Given the description of an element on the screen output the (x, y) to click on. 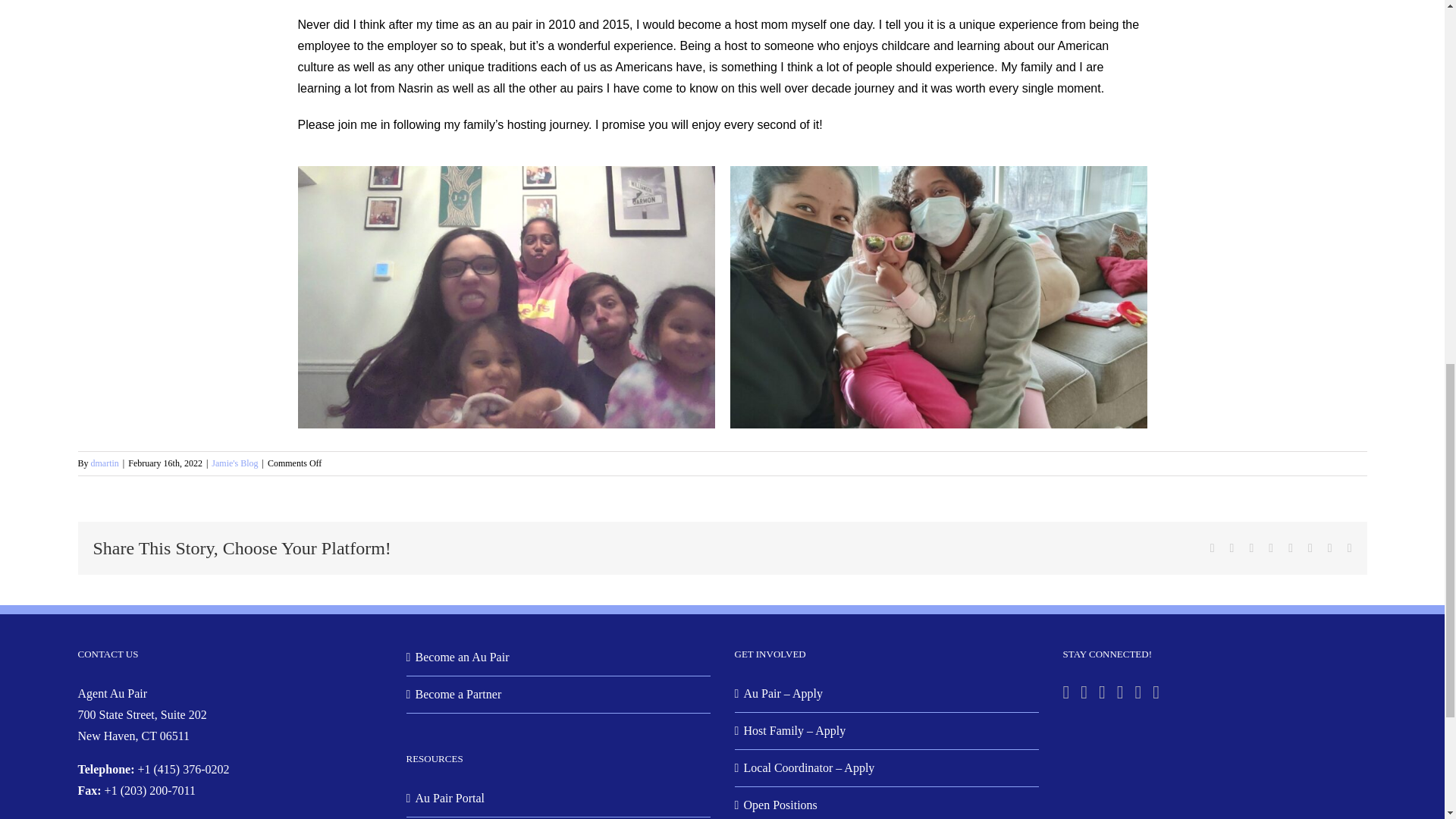
Posts by dmartin (104, 462)
